Given the description of an element on the screen output the (x, y) to click on. 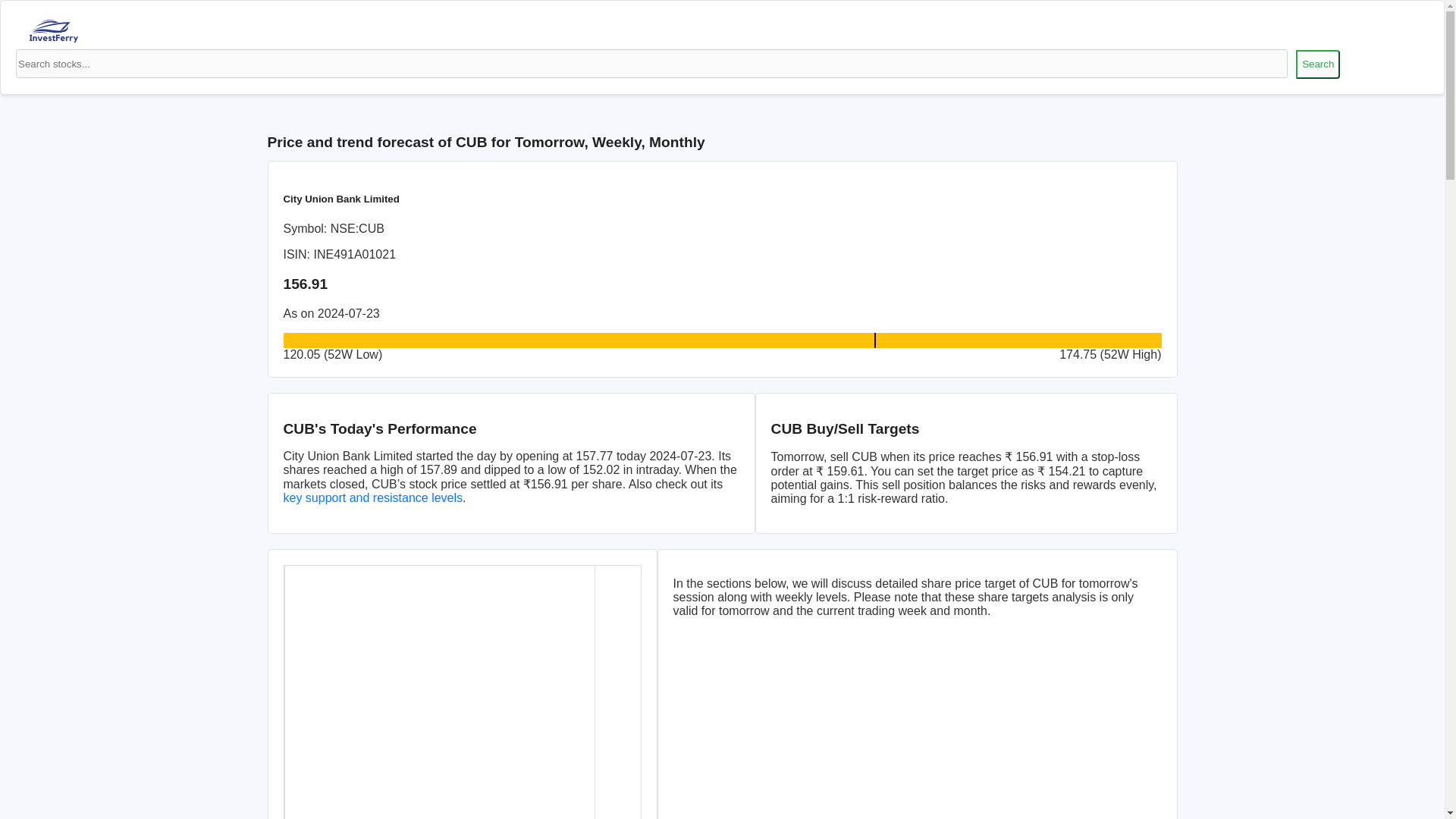
Search (1317, 63)
key support and resistance levels (373, 497)
